Given the description of an element on the screen output the (x, y) to click on. 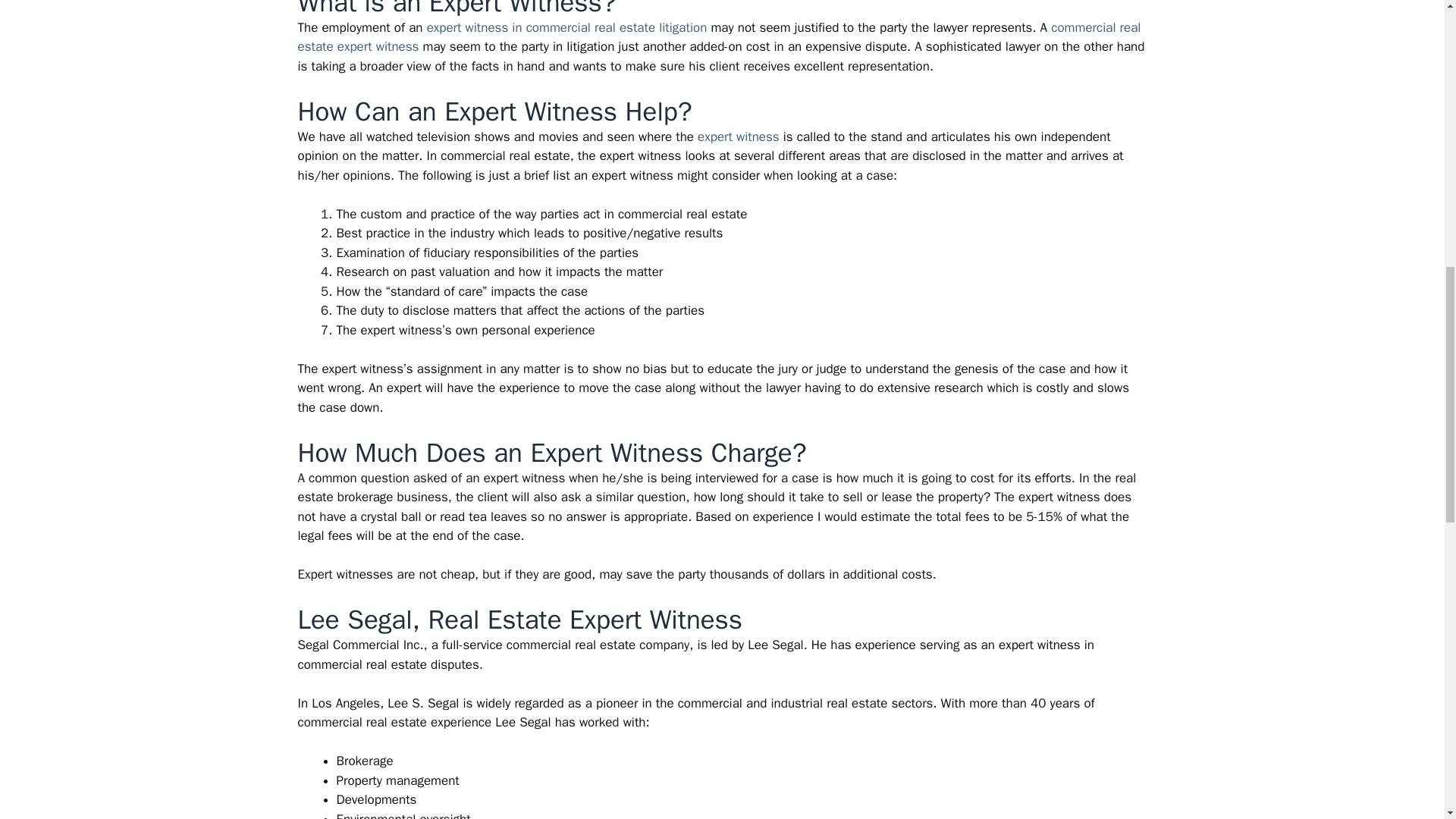
expert witness in commercial real estate litigation (566, 27)
expert witness (737, 136)
Scroll back to top (1406, 720)
commercial real estate expert witness (718, 37)
